Given the description of an element on the screen output the (x, y) to click on. 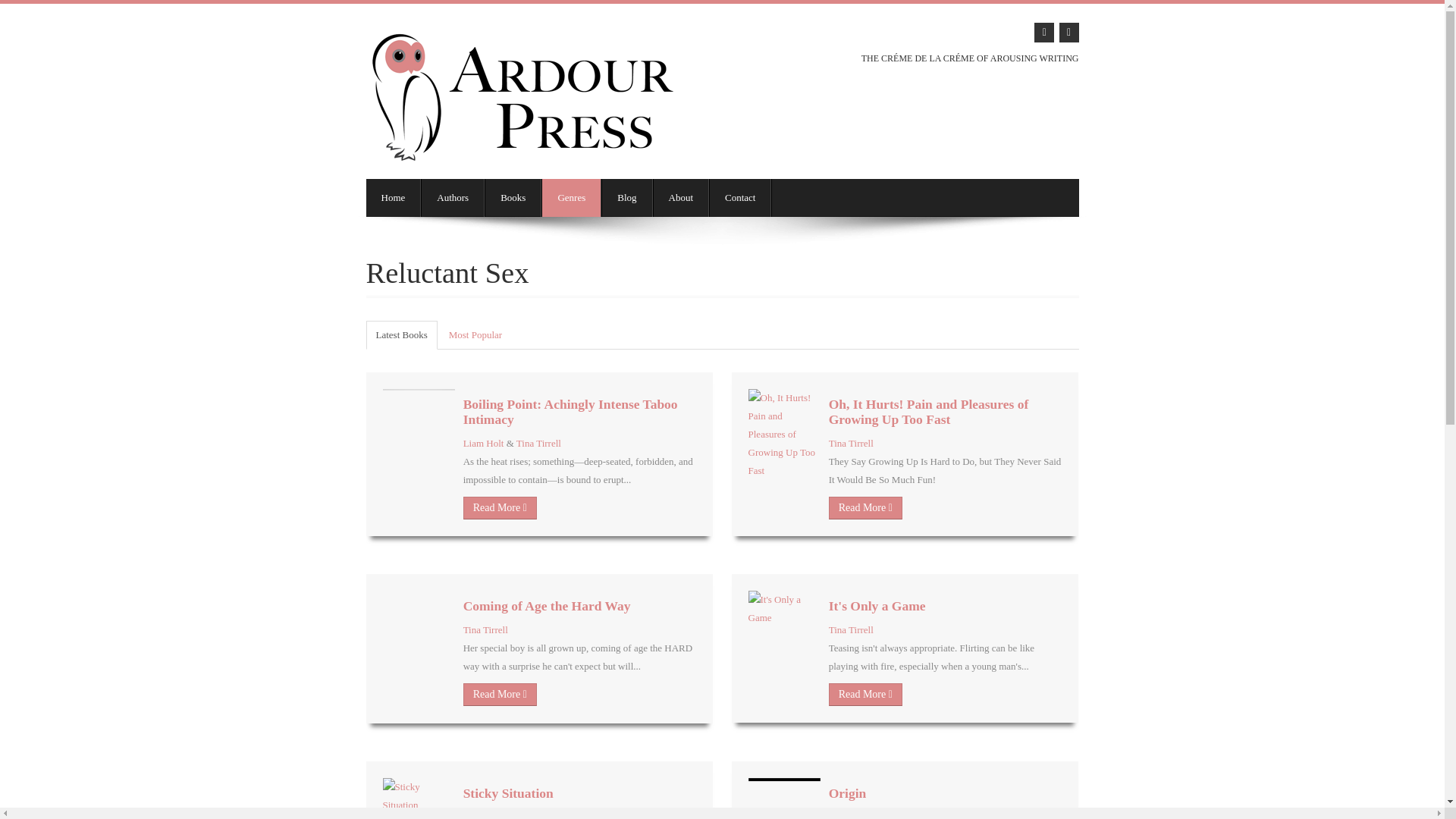
Coming of Age the Hard Way (546, 605)
Tina Tirrell (850, 629)
Tina Tirrell (538, 442)
Read More (865, 507)
Sticky Situation (508, 792)
Liam Holt (483, 442)
Origin (847, 792)
Tina Tirrell (485, 815)
About (681, 198)
Tina Tirrell (485, 629)
Read More (500, 694)
It's Only a Game (877, 605)
Read More (500, 507)
Read More (865, 694)
Liam Holt (848, 815)
